Given the description of an element on the screen output the (x, y) to click on. 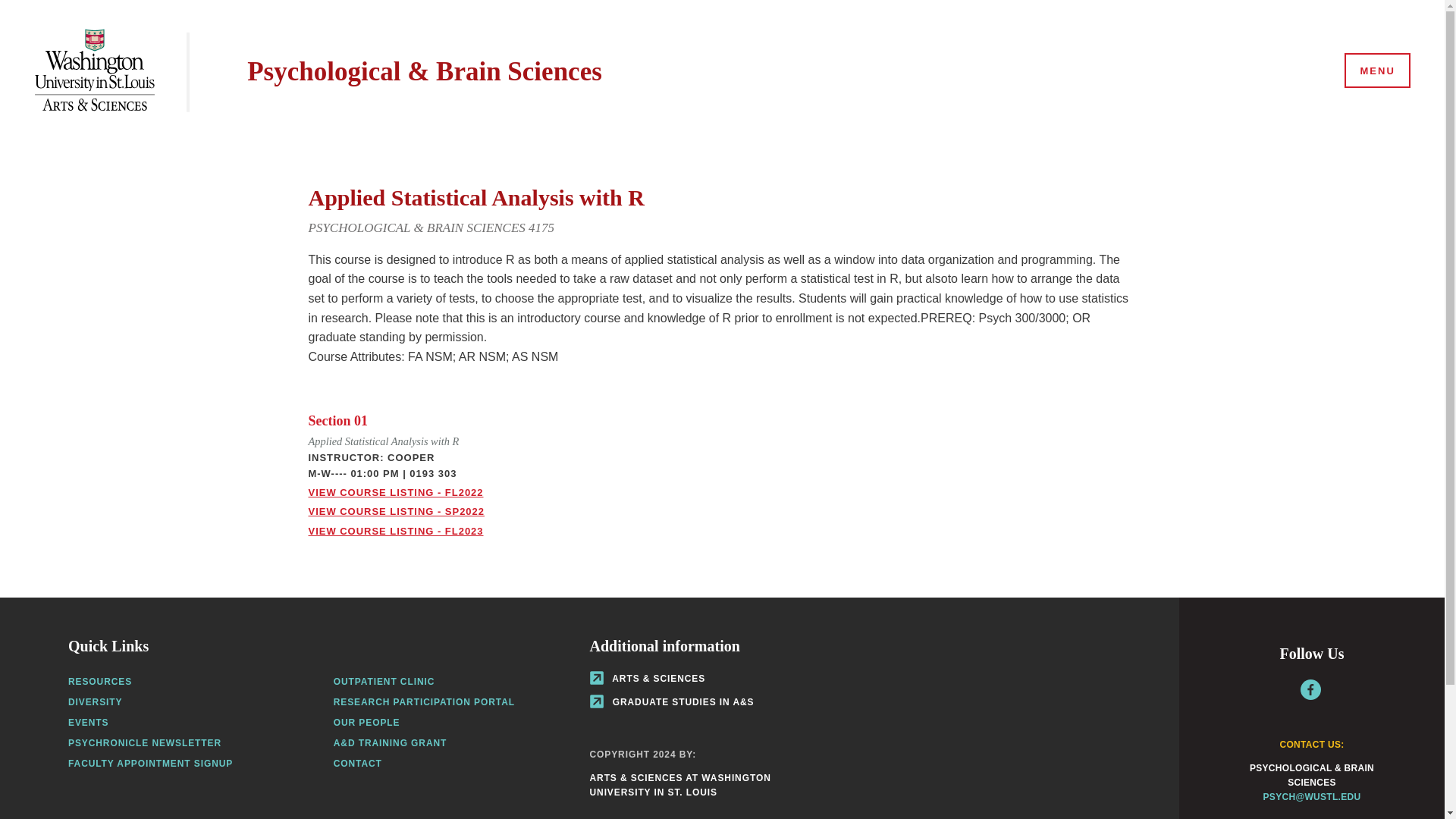
VIEW COURSE LISTING - FL2023 (395, 531)
PSYCHRONICLE NEWSLETTER (144, 742)
VIEW COURSE LISTING - SP2022 (395, 511)
RESOURCES (100, 681)
RESEARCH PARTICIPATION PORTAL (424, 701)
VIEW COURSE LISTING - FL2022 (395, 491)
MENU (1376, 71)
CONTACT (357, 763)
OUR PEOPLE (366, 722)
DIVERSITY (95, 701)
